Given the description of an element on the screen output the (x, y) to click on. 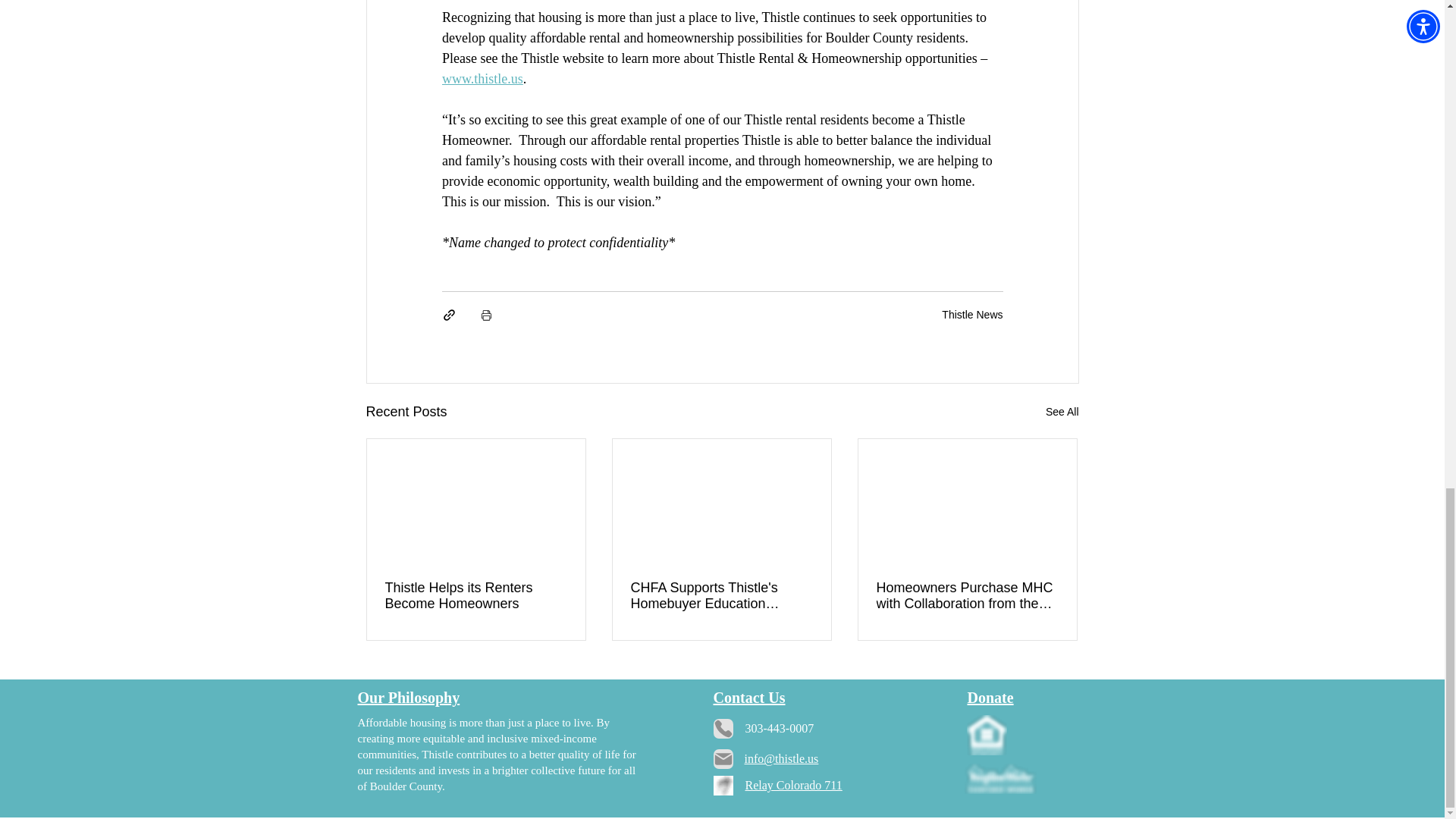
See All (1061, 412)
Thistle Helps its Renters Become Homeowners (476, 595)
CHFA Supports Thistle's Homebuyer Education Initiative (721, 595)
Thistle News (972, 314)
www.thistle.us (481, 78)
